Given the description of an element on the screen output the (x, y) to click on. 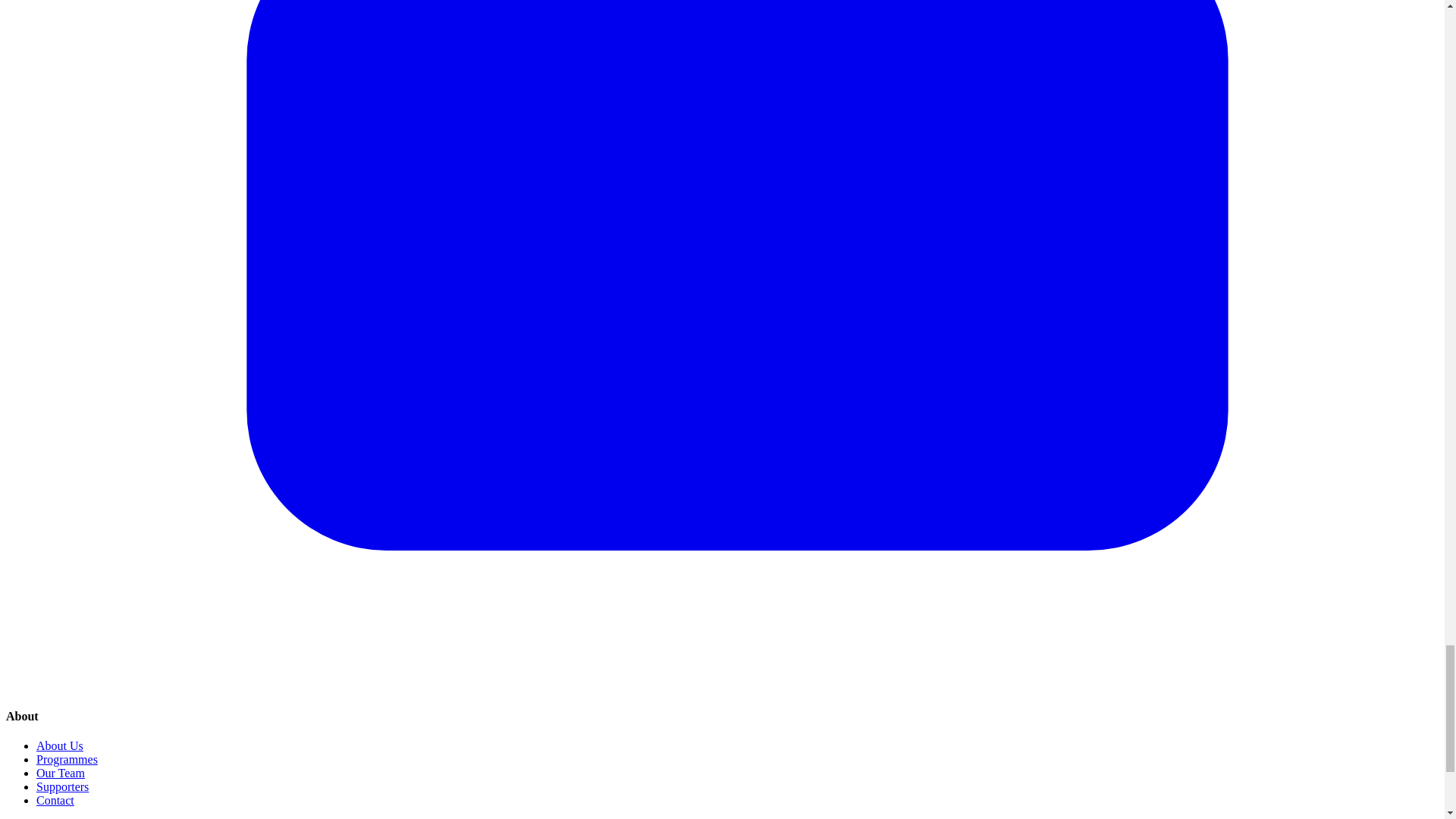
Our Team (60, 772)
Programmes (66, 758)
Contact (55, 799)
About Us (59, 745)
Supporters (62, 786)
